Given the description of an element on the screen output the (x, y) to click on. 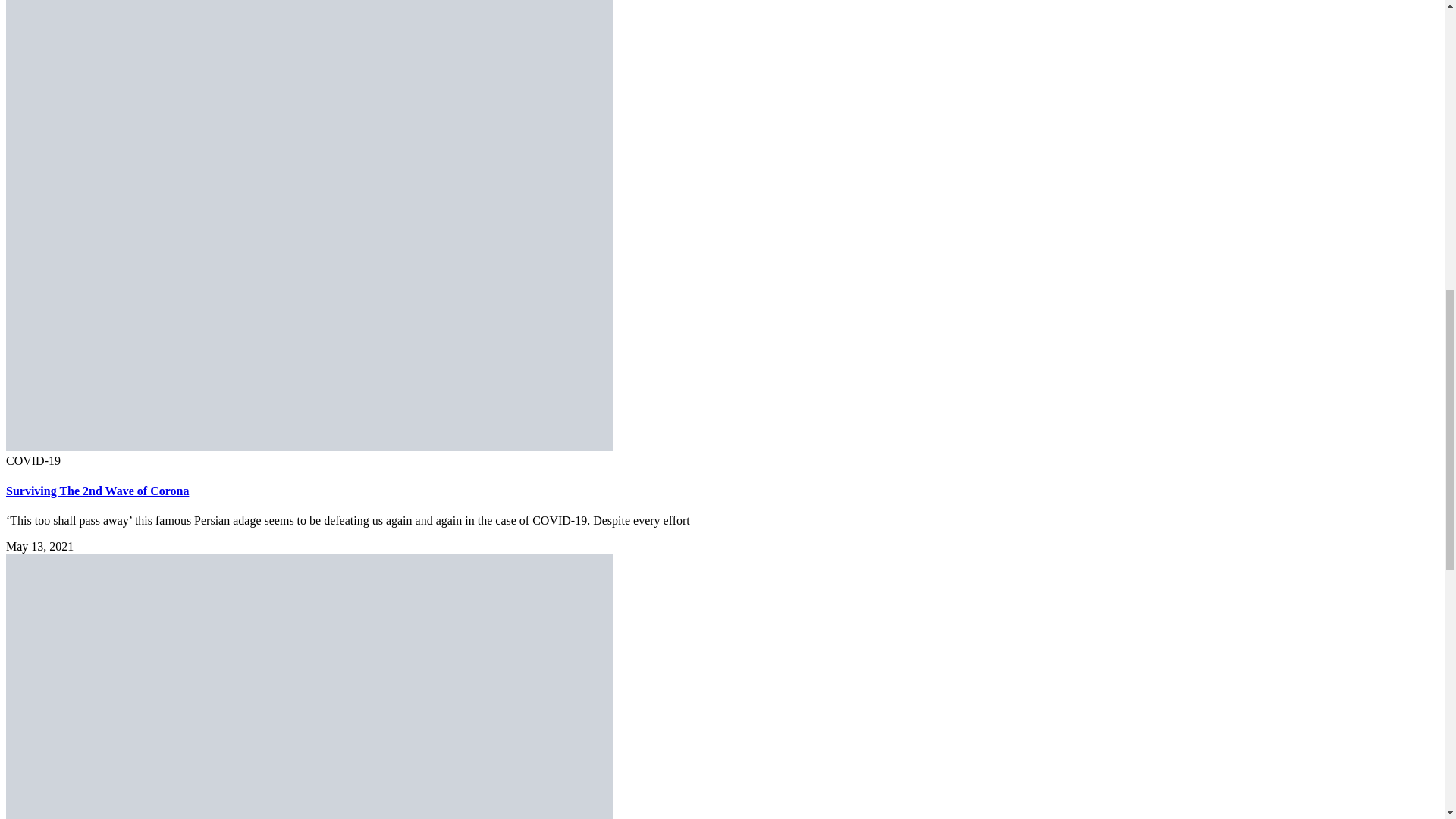
Surviving The 2nd Wave of Corona (97, 490)
